Given the description of an element on the screen output the (x, y) to click on. 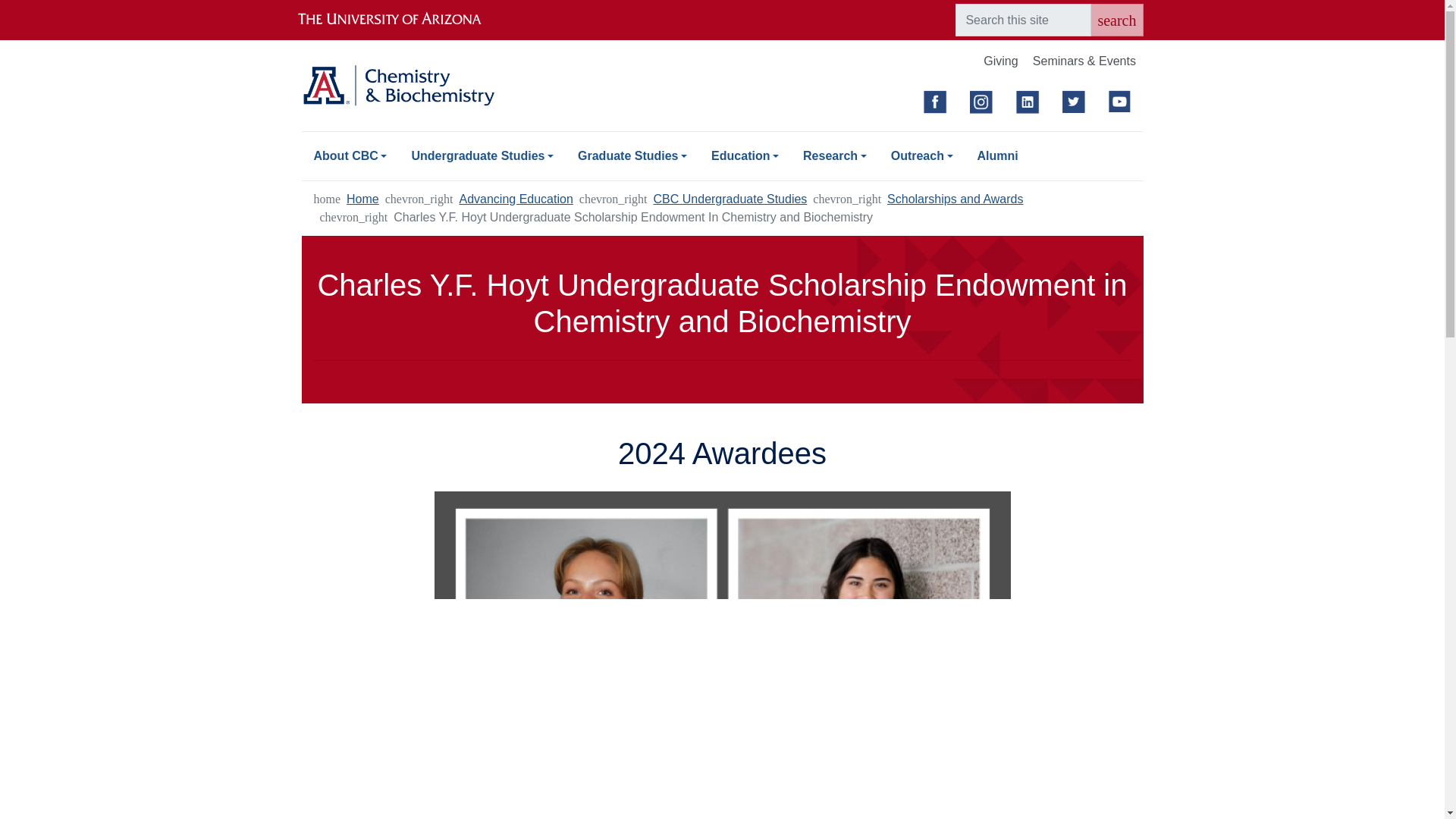
Giving (1000, 62)
Enter the terms you wish to search for. (1022, 20)
Undergraduate Studies (482, 155)
About CBC (349, 155)
Skip to main content (721, 1)
Graduate Studies (632, 155)
The University of Arizona homepage (401, 20)
search (1116, 20)
